Given the description of an element on the screen output the (x, y) to click on. 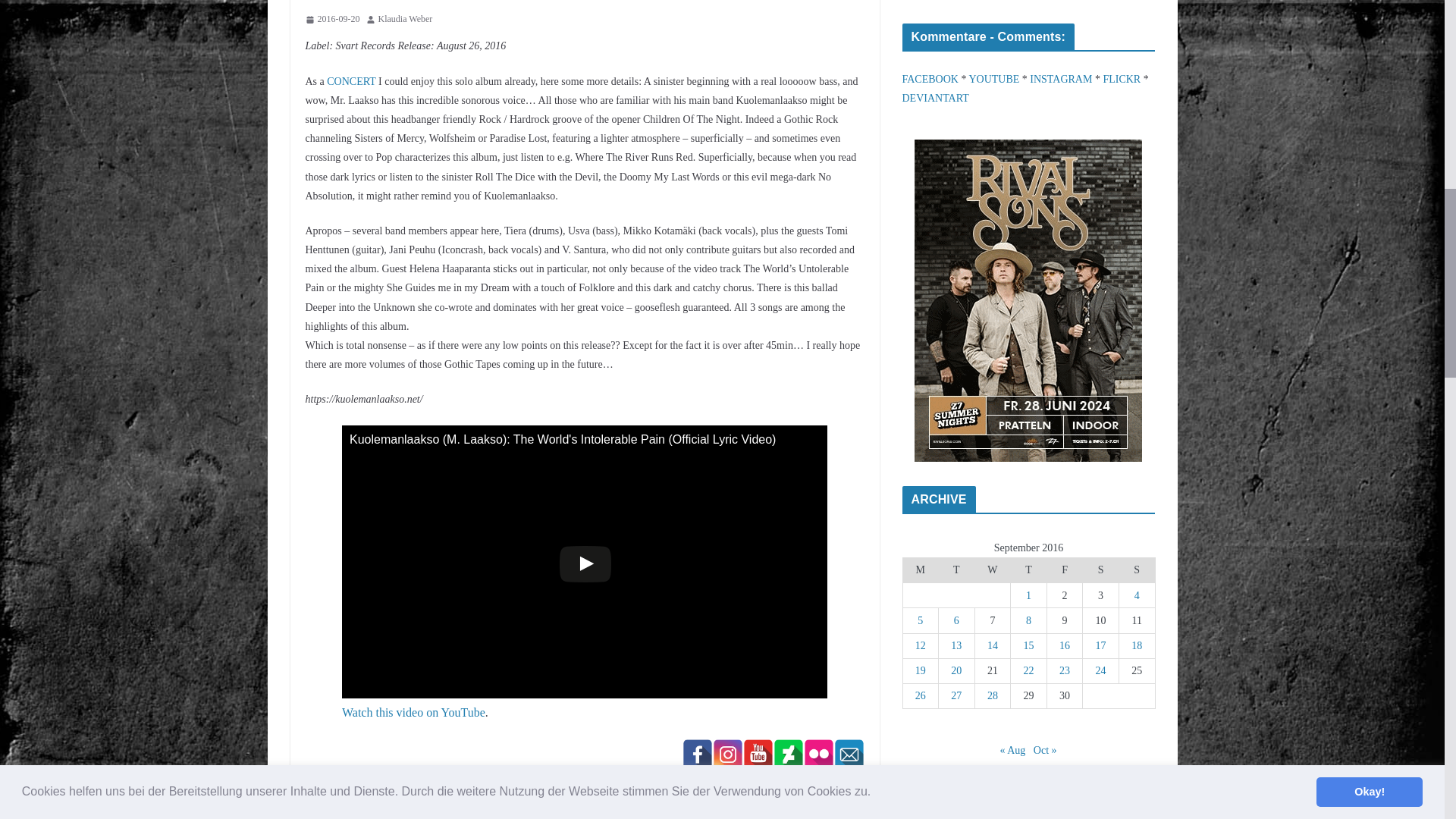
Klaudia Weber (404, 19)
Facebook (697, 754)
22:46 (331, 19)
